Given the description of an element on the screen output the (x, y) to click on. 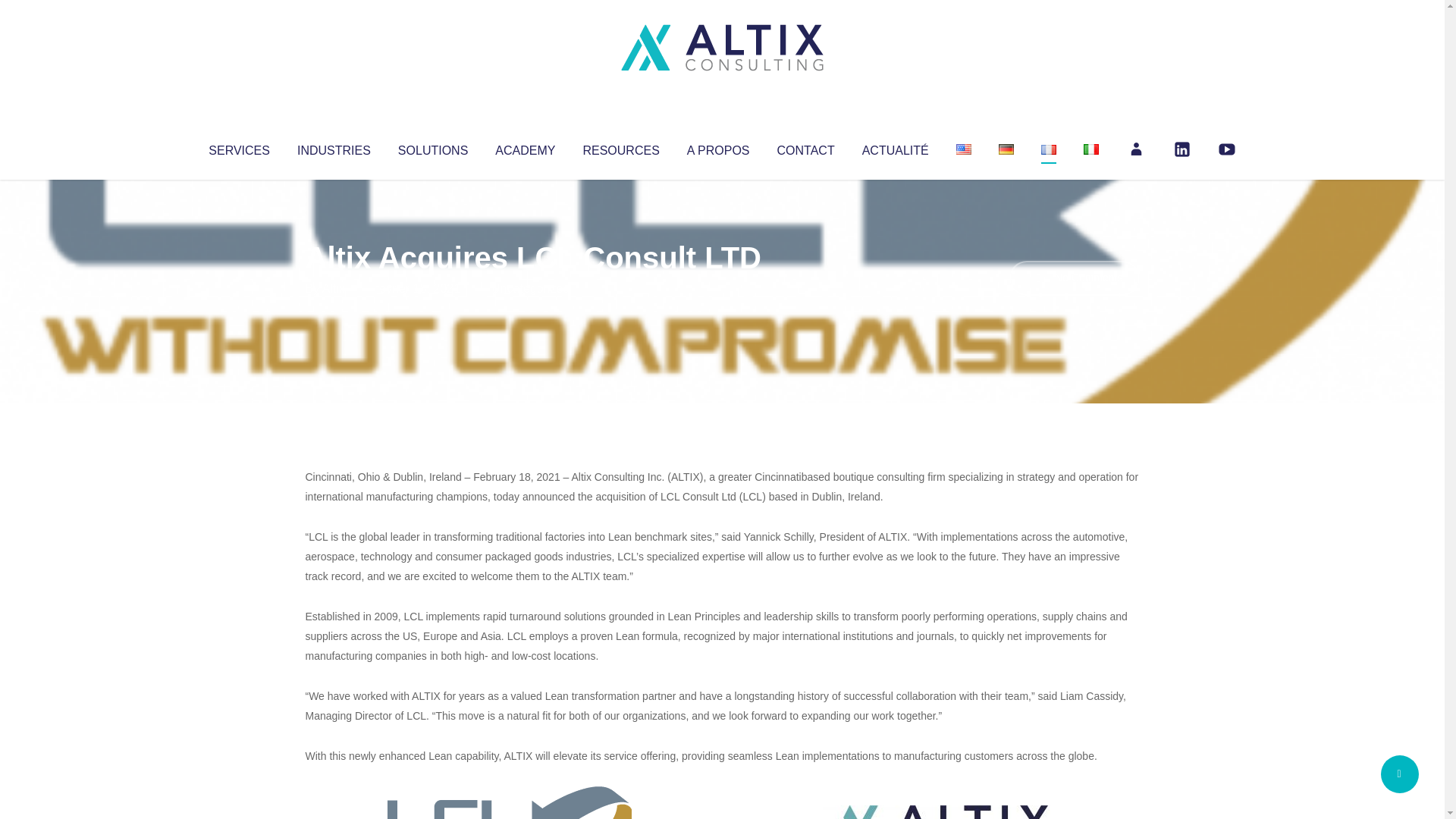
INDUSTRIES (334, 146)
SOLUTIONS (432, 146)
RESOURCES (620, 146)
A PROPOS (718, 146)
ACADEMY (524, 146)
Altix (333, 287)
Uncategorized (530, 287)
No Comments (1073, 278)
Articles par Altix (333, 287)
SERVICES (238, 146)
